Given the description of an element on the screen output the (x, y) to click on. 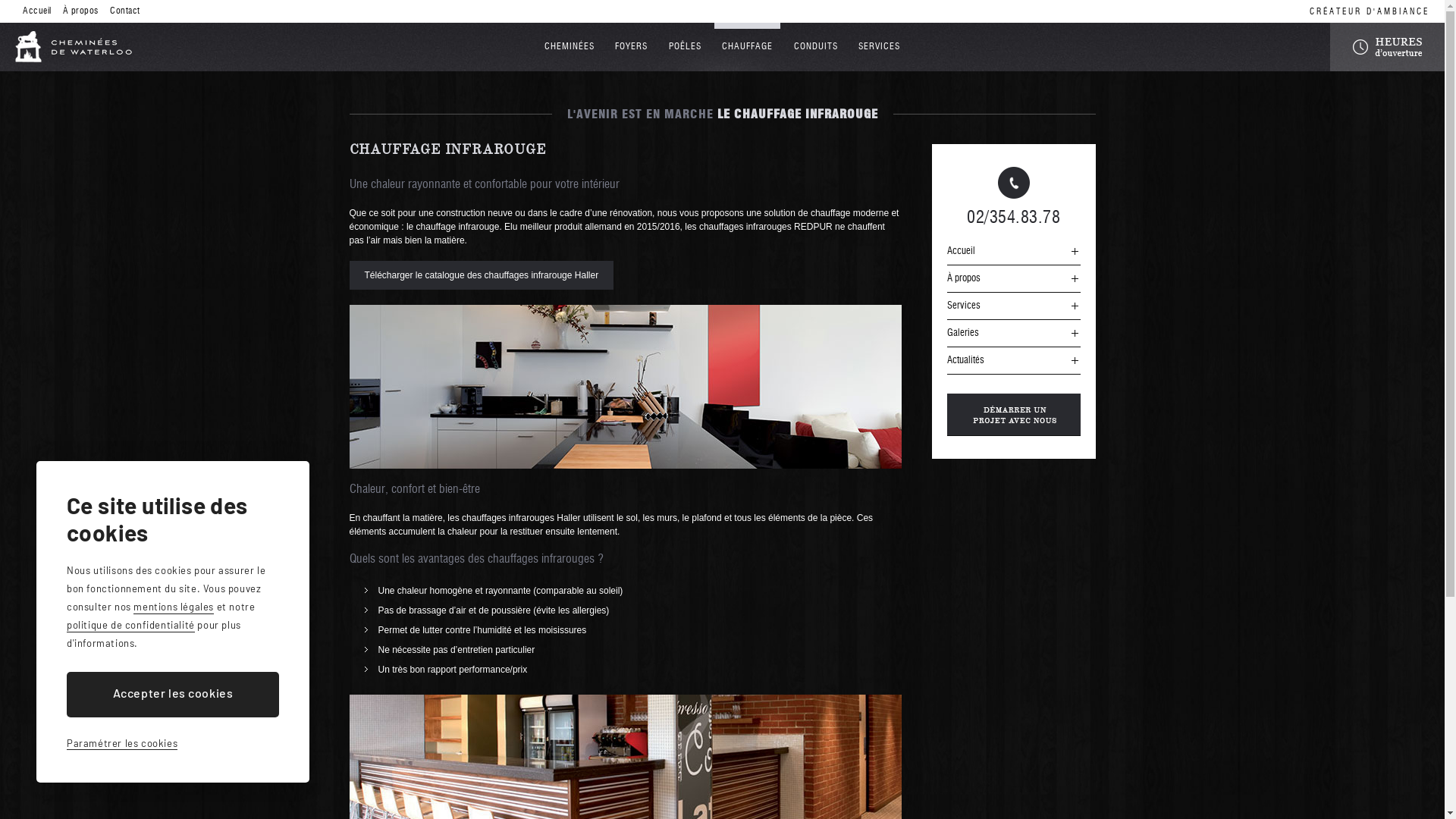
CHAUFFAGE Element type: text (747, 46)
Accueil Element type: text (1012, 251)
SERVICES Element type: text (878, 46)
Contact Element type: text (124, 10)
HEURES D'OUVERTURE Element type: text (1387, 46)
FOYERS Element type: text (631, 46)
Services Element type: text (1012, 306)
CONDUITS Element type: text (815, 46)
Galeries Element type: text (1012, 333)
Accueil Element type: text (37, 10)
